Given the description of an element on the screen output the (x, y) to click on. 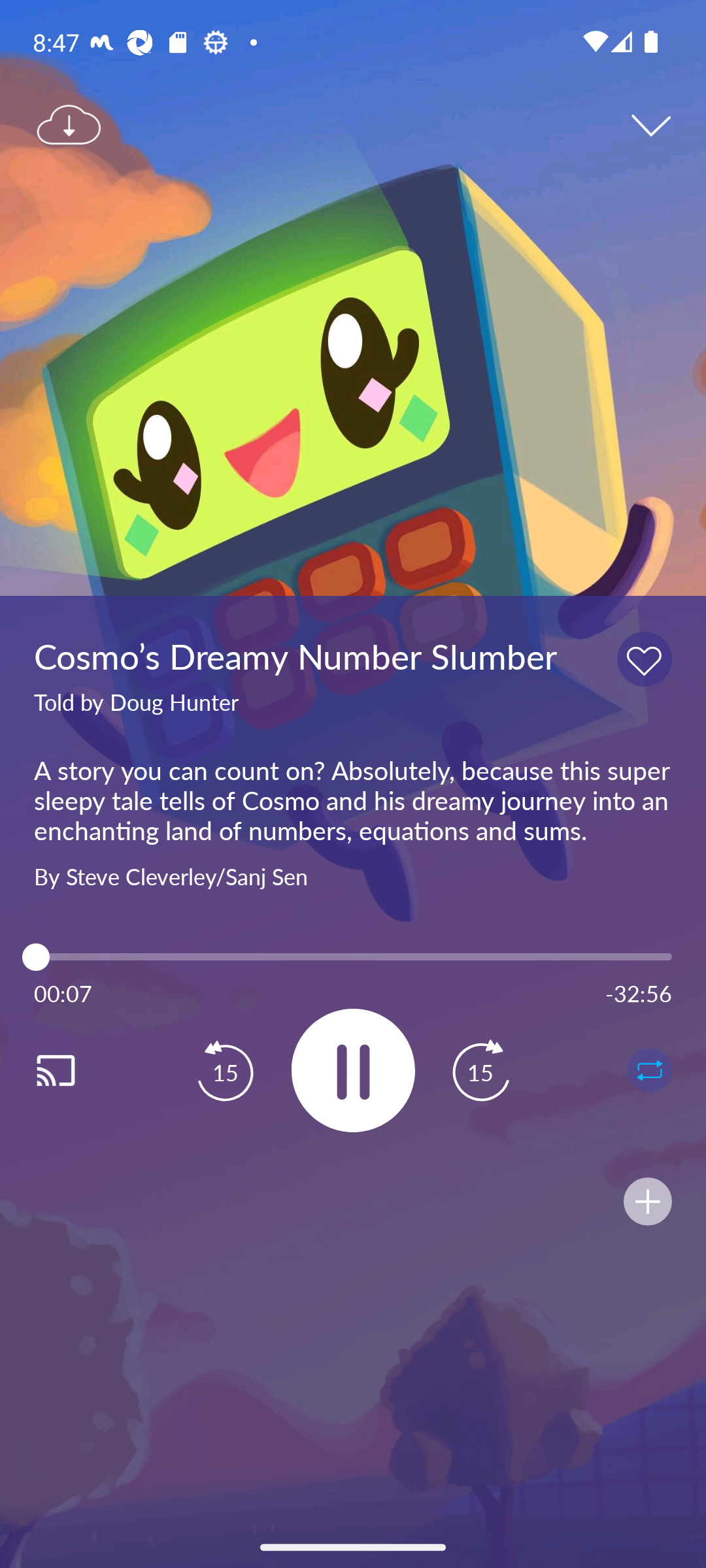
7.0 (352, 956)
Cast. Disconnected (76, 1070)
